Given the description of an element on the screen output the (x, y) to click on. 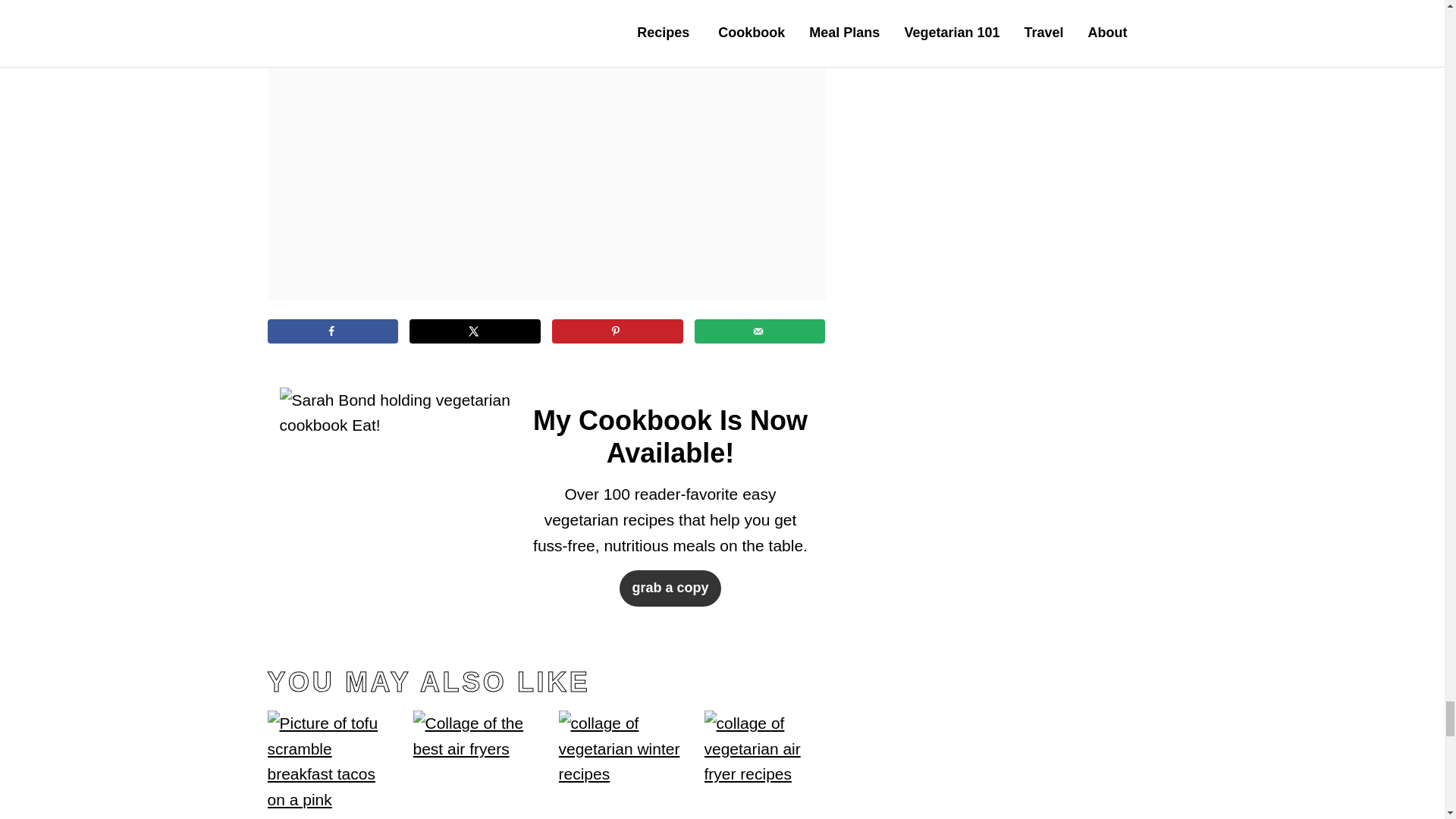
Send over email (759, 331)
Share on X (474, 331)
Share on Facebook (331, 331)
Save to Pinterest (616, 331)
